Given the description of an element on the screen output the (x, y) to click on. 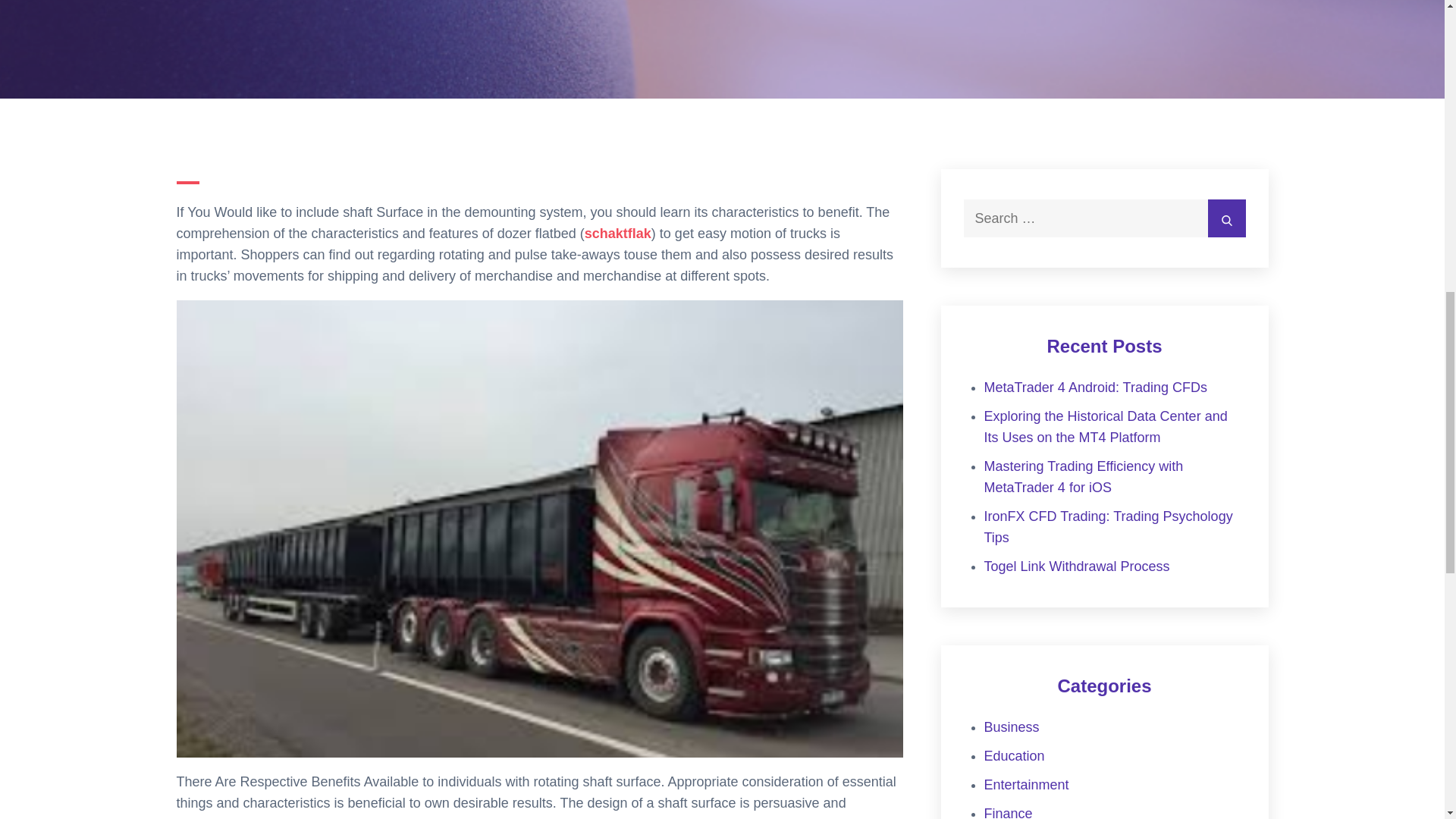
Entertainment (1026, 784)
IronFX CFD Trading: Trading Psychology Tips (1108, 526)
Education (1014, 755)
Search (1225, 218)
schaktflak (617, 233)
MetaTrader 4 Android: Trading CFDs (1095, 387)
Finance (1008, 812)
Business (1011, 726)
Togel Link Withdrawal Process (1077, 566)
Mastering Trading Efficiency with MetaTrader 4 for iOS (1083, 476)
